Given the description of an element on the screen output the (x, y) to click on. 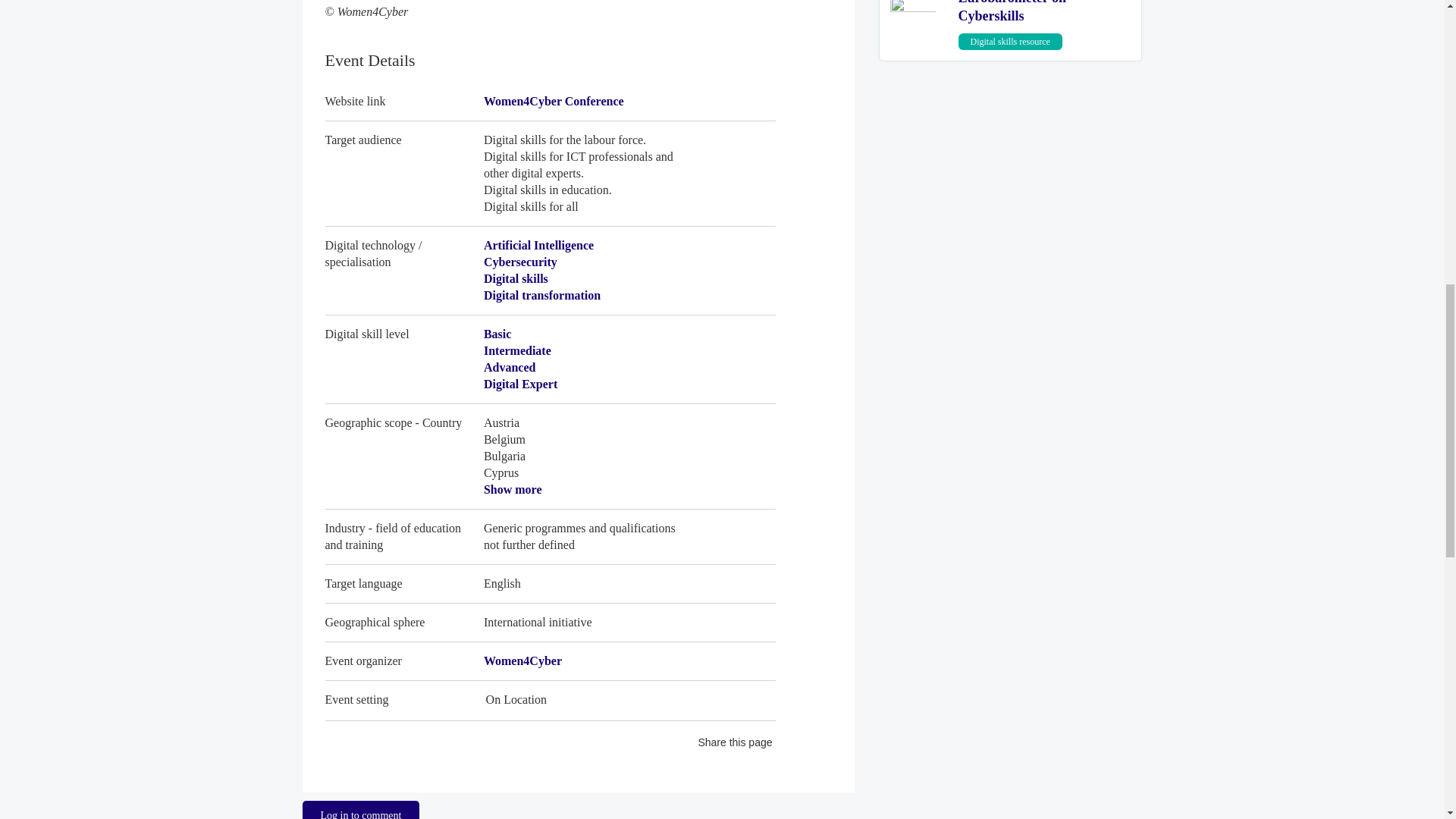
On Location (549, 694)
Eurobarometer on Cyberskills (1012, 11)
Geographical sphere (549, 622)
